Given the description of an element on the screen output the (x, y) to click on. 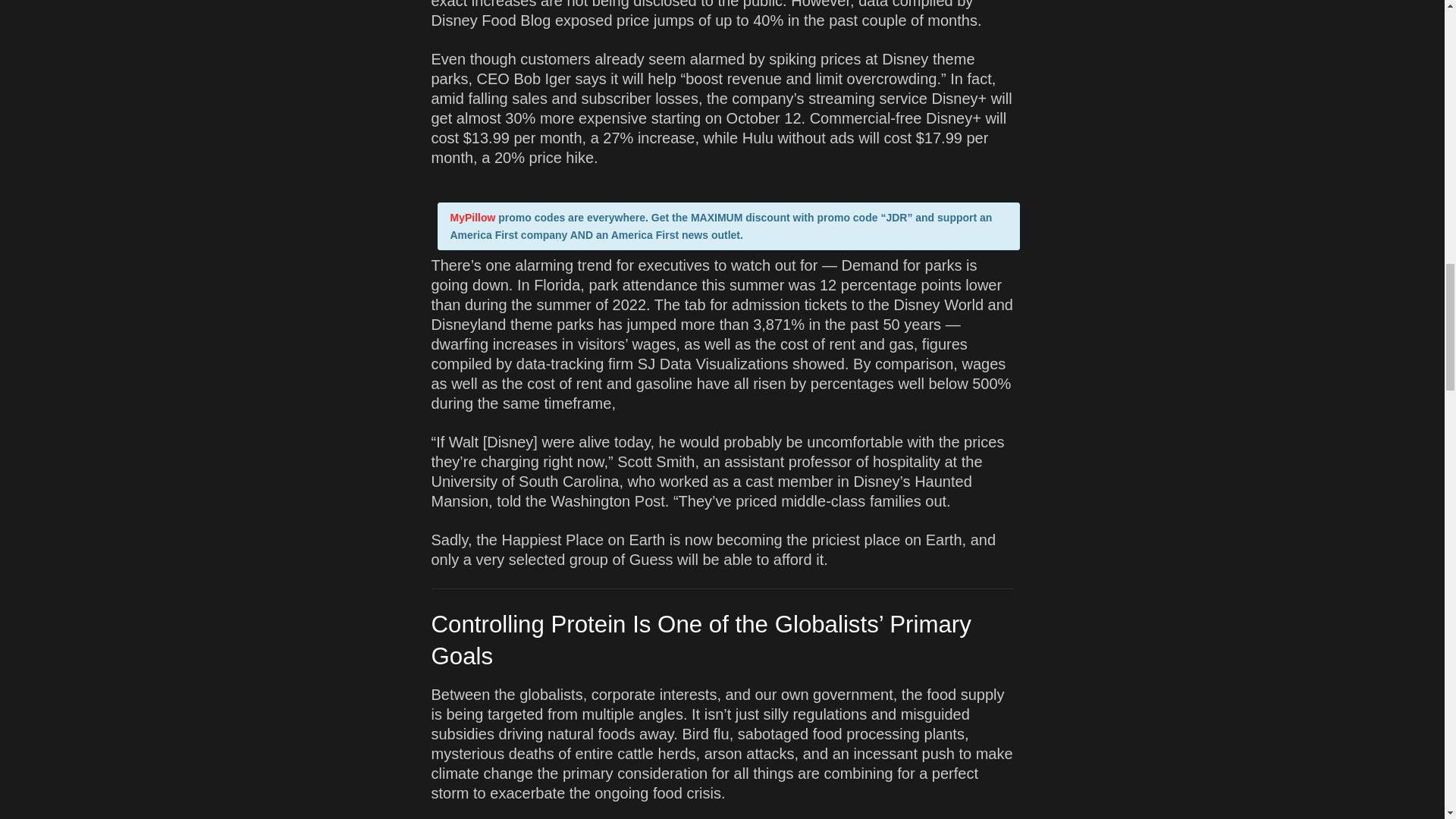
MyPillow (472, 217)
